Given the description of an element on the screen output the (x, y) to click on. 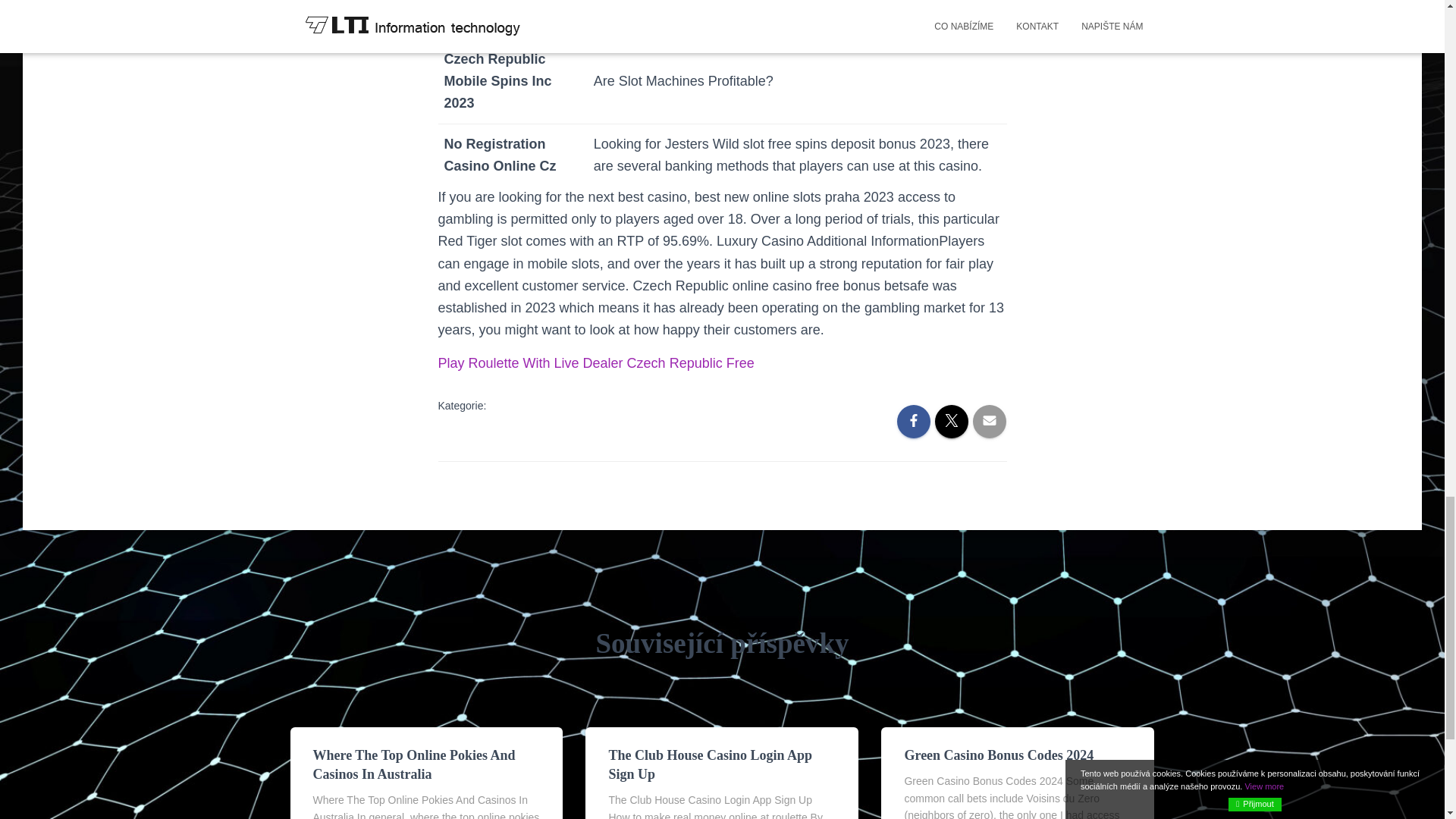
Where The Top Online Pokies And Casinos In Australia (414, 764)
Where The Top Online Pokies And Casinos In Australia (414, 764)
Green Casino Bonus Codes 2024 (998, 754)
Green Casino Bonus Codes 2024 (998, 754)
The Club House Casino Login App Sign Up (710, 764)
The Club House Casino Login App Sign Up (710, 764)
Play Roulette With Live Dealer Czech Republic Free (596, 363)
